Given the description of an element on the screen output the (x, y) to click on. 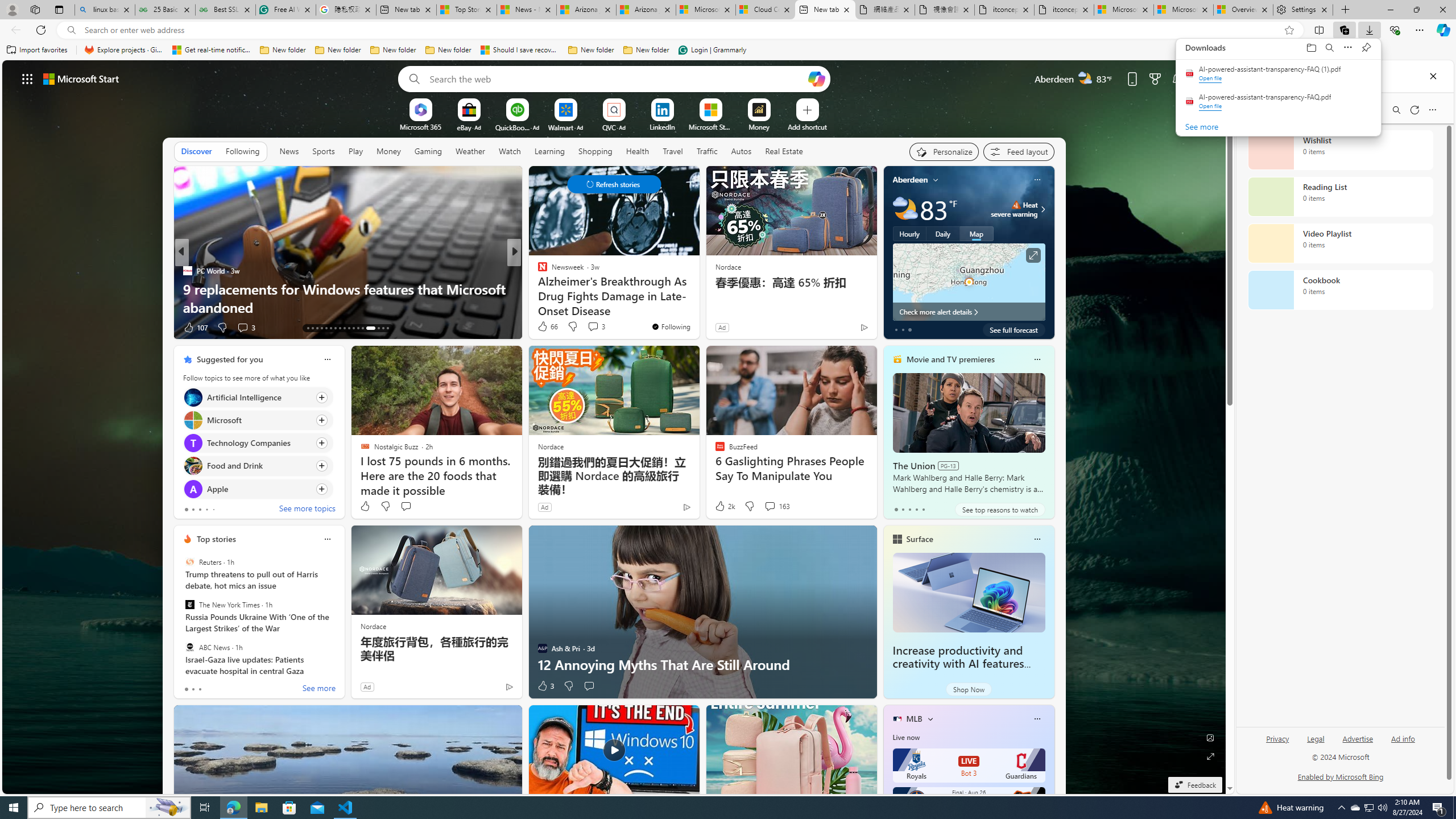
66 Like (546, 326)
AutomationID: tab-26 (370, 328)
Larger map  (968, 282)
Sports (323, 151)
Expand background (1210, 756)
AutomationID: tab-15 (317, 328)
Money (387, 151)
Should I save recovered Word documents? - Microsoft Support (519, 49)
Partly cloudy (904, 208)
